Given the description of an element on the screen output the (x, y) to click on. 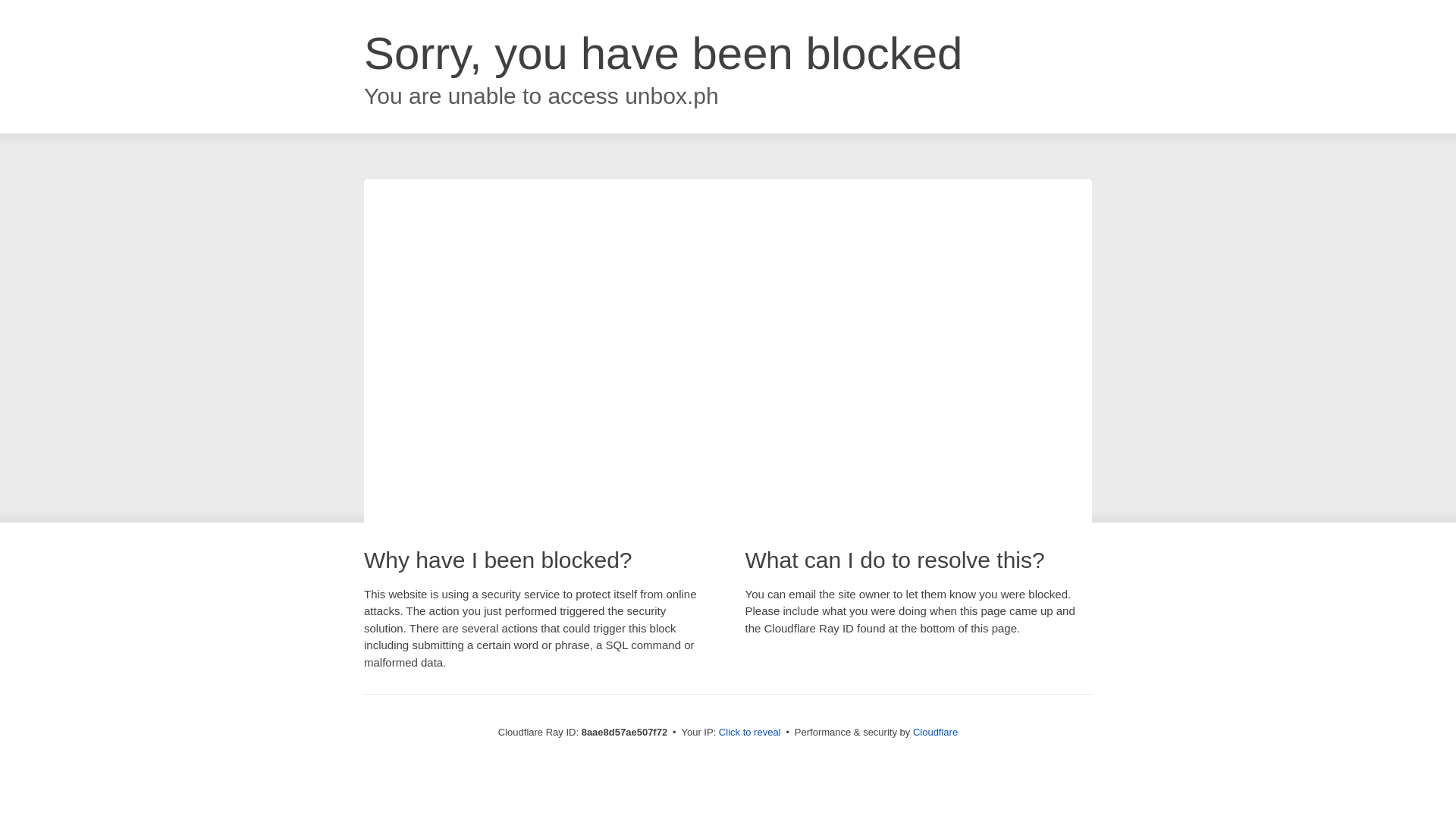
Cloudflare (935, 731)
Click to reveal (749, 732)
